Given the description of an element on the screen output the (x, y) to click on. 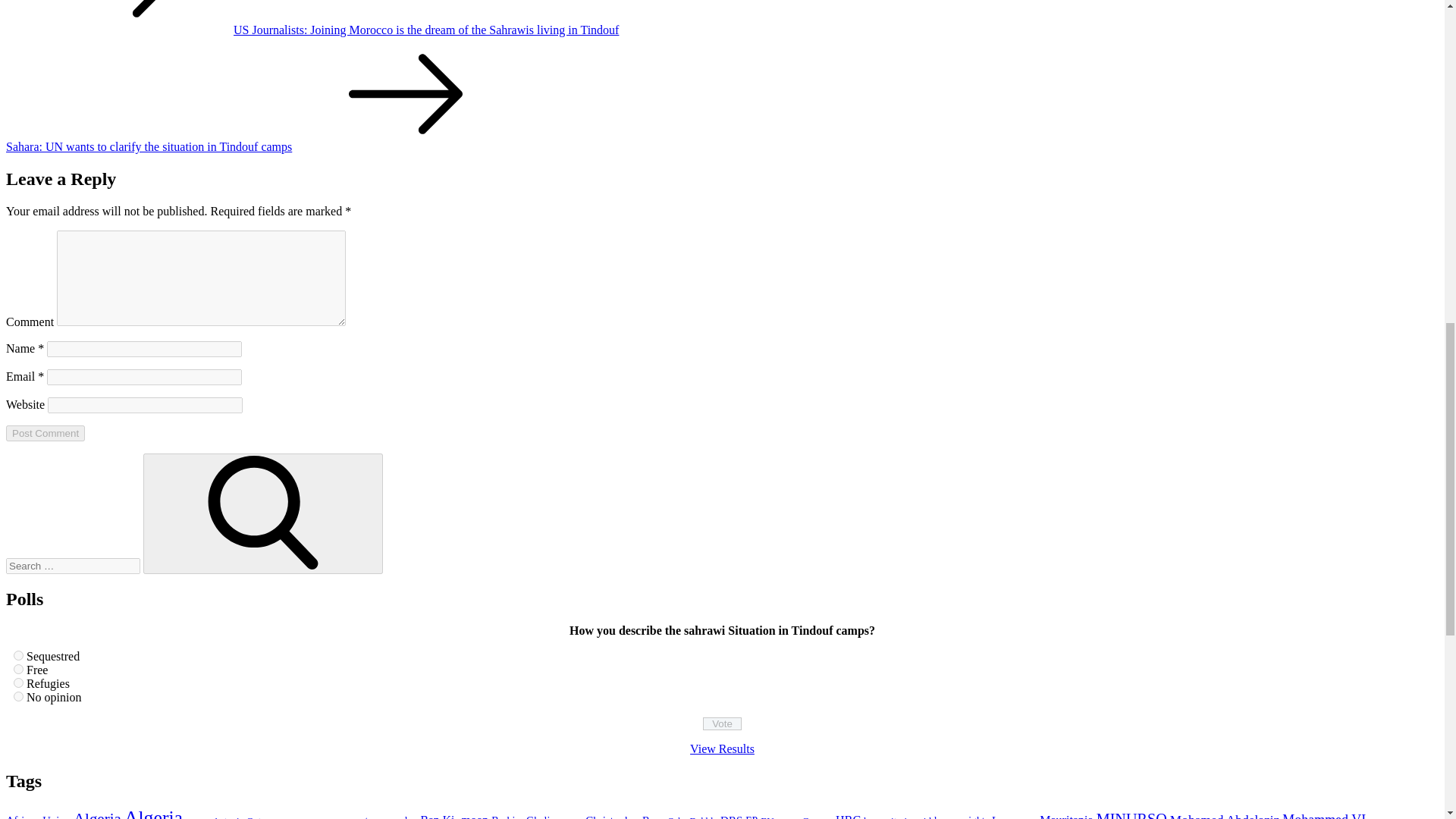
View Results Of This Poll (722, 748)
View Results (722, 748)
EP (751, 816)
3 (18, 682)
humanitarian aid (897, 816)
Algiers (197, 818)
Autonomy Initiative (317, 817)
2 (18, 669)
Geneva (817, 816)
Post Comment (44, 433)
EU (767, 816)
1 (18, 655)
Post Comment (44, 433)
HRC (847, 816)
